Given the description of an element on the screen output the (x, y) to click on. 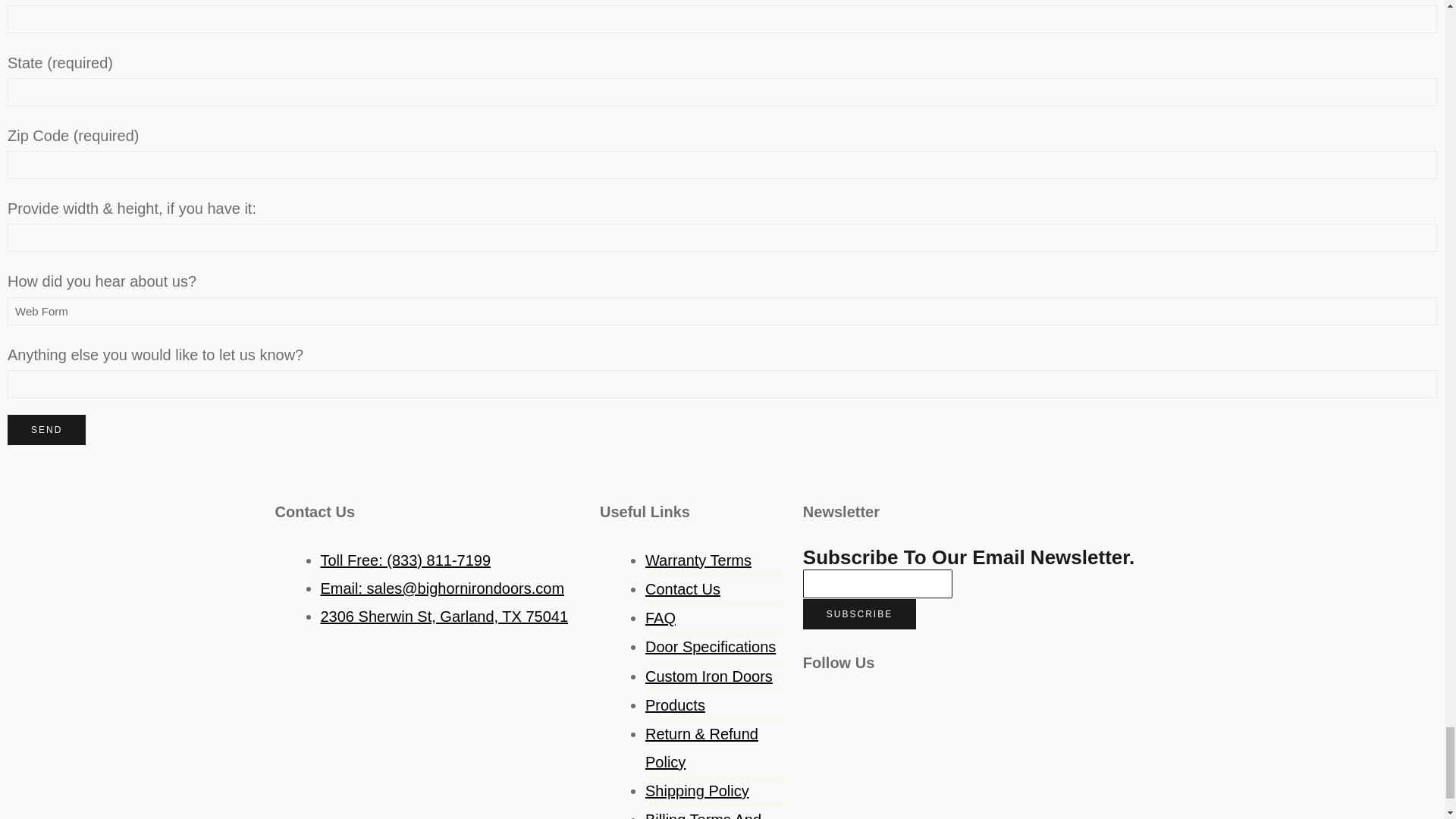
Web Form (722, 311)
Subscribe (859, 613)
Send (46, 429)
